Given the description of an element on the screen output the (x, y) to click on. 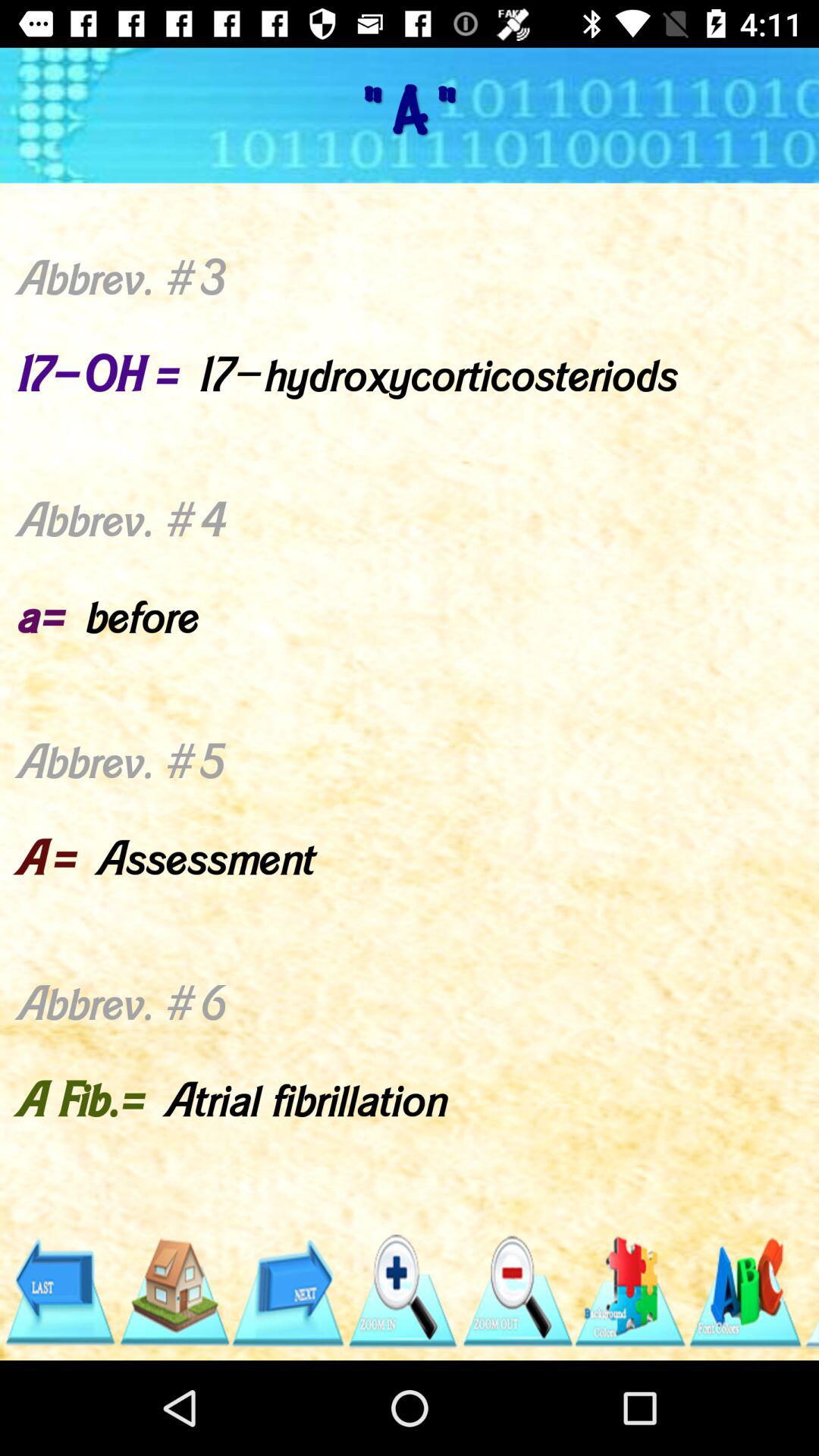
turn off app below abbrev 	1	 	 app (630, 1291)
